Given the description of an element on the screen output the (x, y) to click on. 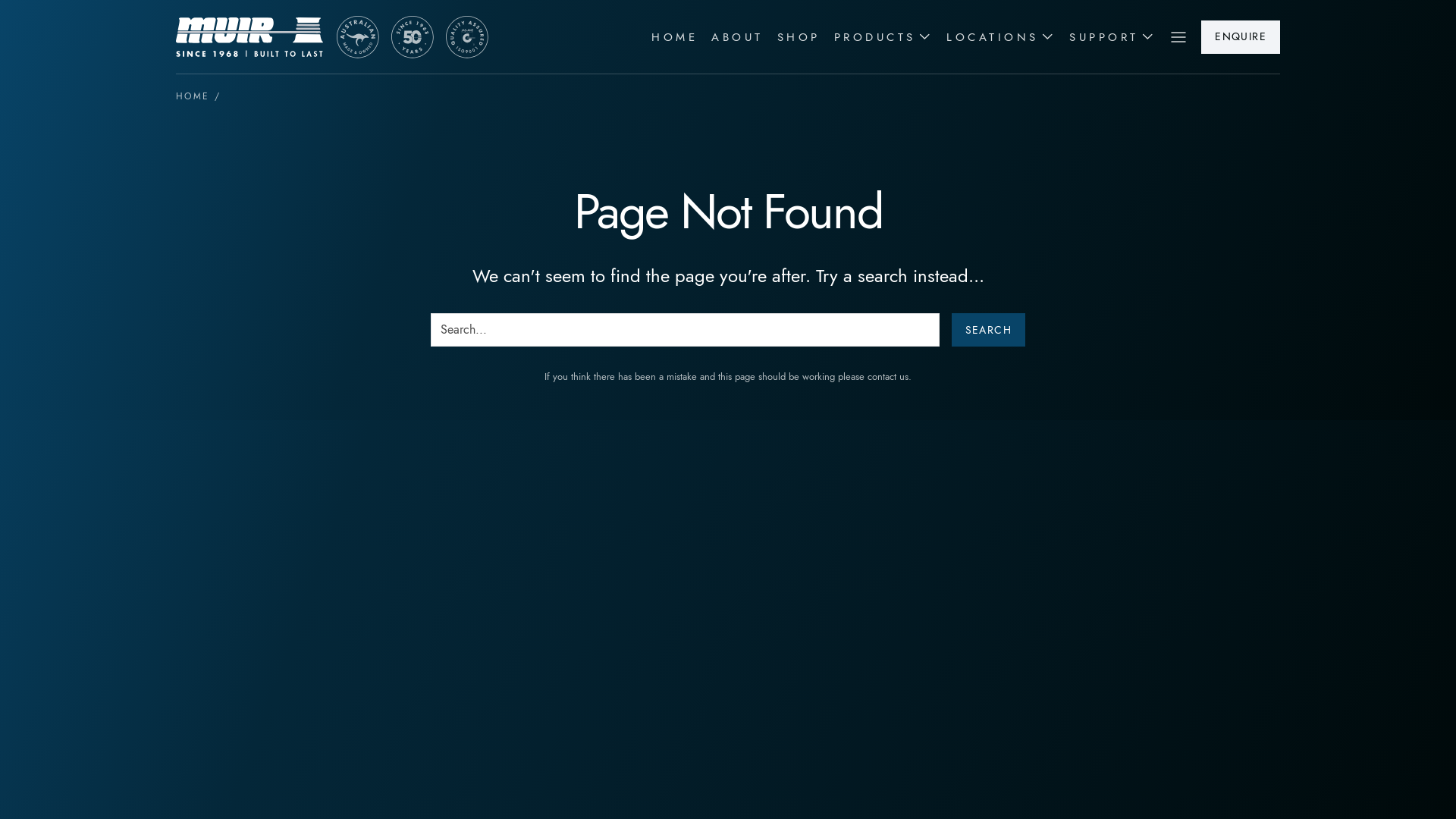
HOME Element type: text (674, 37)
Muir Australia Element type: hover (412, 36)
Menu Element type: text (1178, 36)
ENQUIRE Element type: text (1240, 36)
Search Element type: text (988, 329)
PRODUCTS Element type: text (875, 37)
SUPPORT Element type: text (1104, 37)
LOCATIONS Element type: text (992, 37)
SHOP Element type: text (798, 37)
HOME Element type: text (192, 96)
ABOUT Element type: text (737, 37)
